Given the description of an element on the screen output the (x, y) to click on. 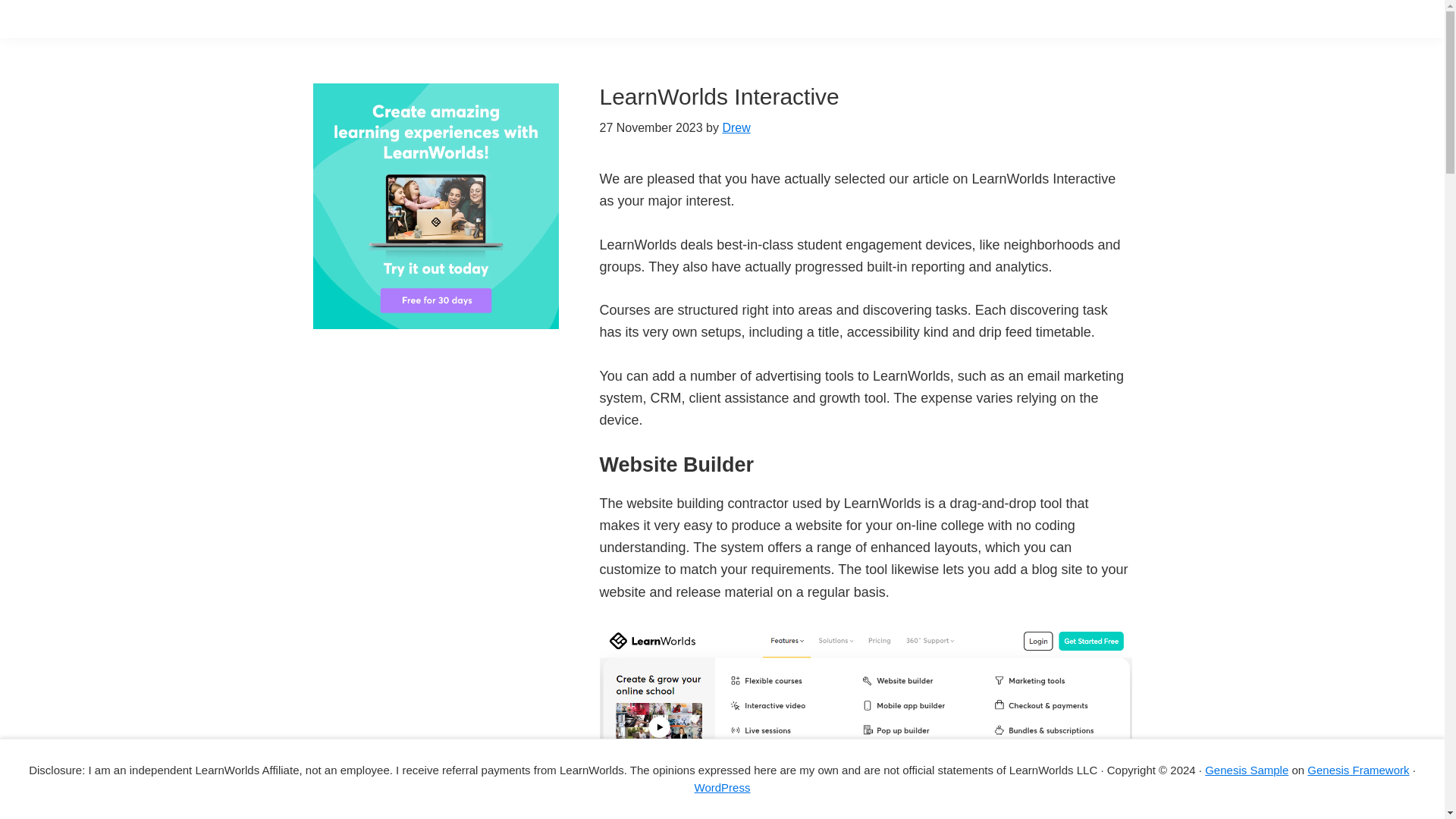
Drew (735, 127)
WordPress (722, 787)
Genesis Sample (1246, 769)
Genesis Framework (1358, 769)
